Given the description of an element on the screen output the (x, y) to click on. 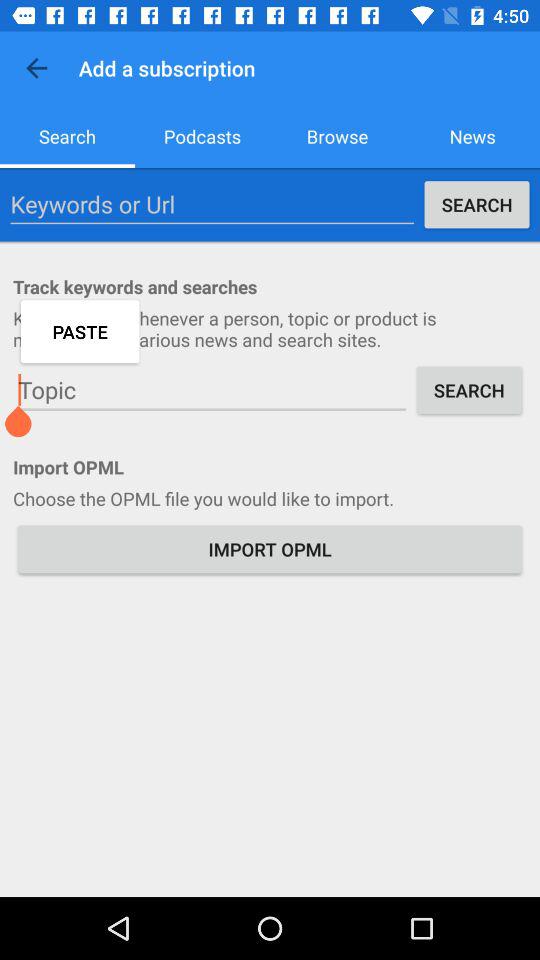
enter keywords (212, 204)
